Given the description of an element on the screen output the (x, y) to click on. 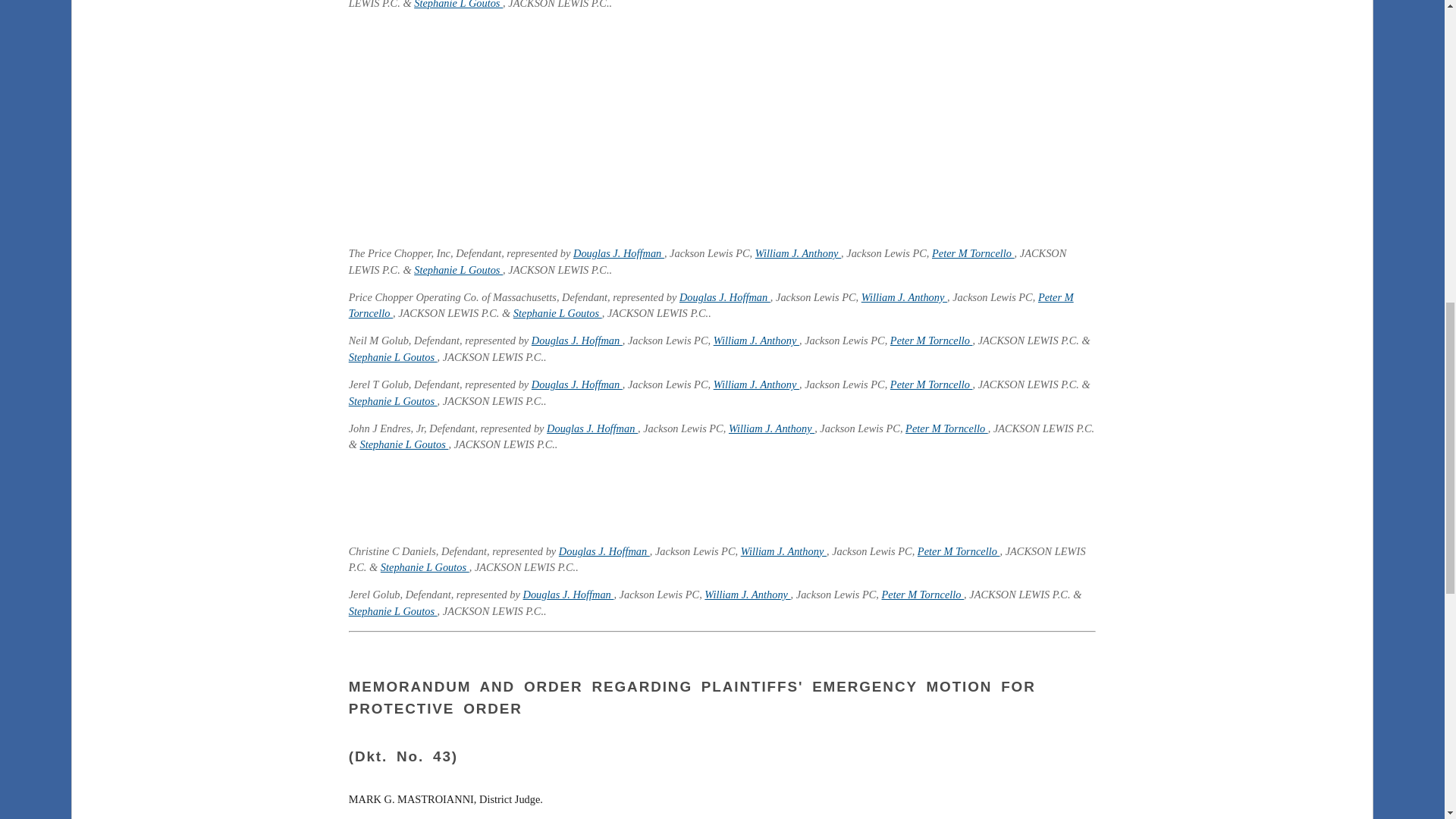
Advertisement (722, 498)
